Given the description of an element on the screen output the (x, y) to click on. 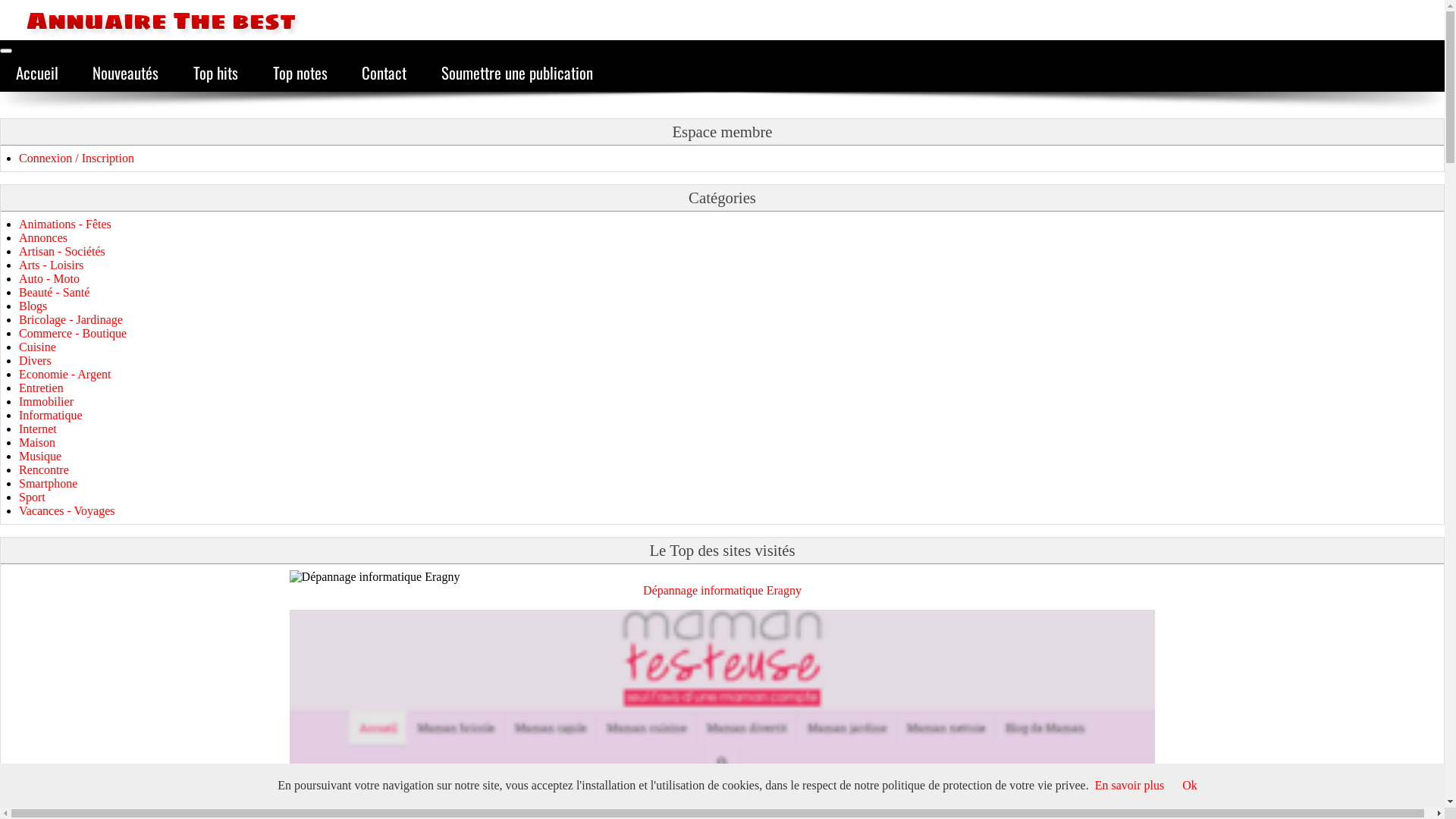
Divers Element type: text (34, 360)
Auto - Moto Element type: text (48, 278)
Contact Element type: text (383, 72)
Commerce - Boutique Element type: text (72, 332)
Economie - Argent Element type: text (64, 373)
Rencontre Element type: text (43, 469)
Sport Element type: text (31, 496)
Internet Element type: text (37, 428)
Maison Element type: text (36, 442)
En savoir plus Element type: text (1129, 784)
Bricolage - Jardinage Element type: text (70, 319)
Top notes Element type: text (300, 72)
Soumettre une publication Element type: text (516, 72)
Accueil Element type: text (37, 72)
Informatique Element type: text (50, 414)
Annuaire The best Element type: text (147, 20)
Entretien Element type: text (40, 387)
Top hits Element type: text (215, 72)
Musique Element type: text (39, 455)
Arts - Loisirs Element type: text (50, 264)
Annonces Element type: text (42, 237)
Ok Element type: text (1189, 784)
Blogs Element type: text (32, 305)
Connexion / Inscription Element type: text (76, 157)
Toggle navigation Element type: text (6, 50)
Smartphone Element type: text (47, 482)
Vacances - Voyages Element type: text (66, 510)
Cuisine Element type: text (37, 346)
Immobilier Element type: text (45, 401)
